Given the description of an element on the screen output the (x, y) to click on. 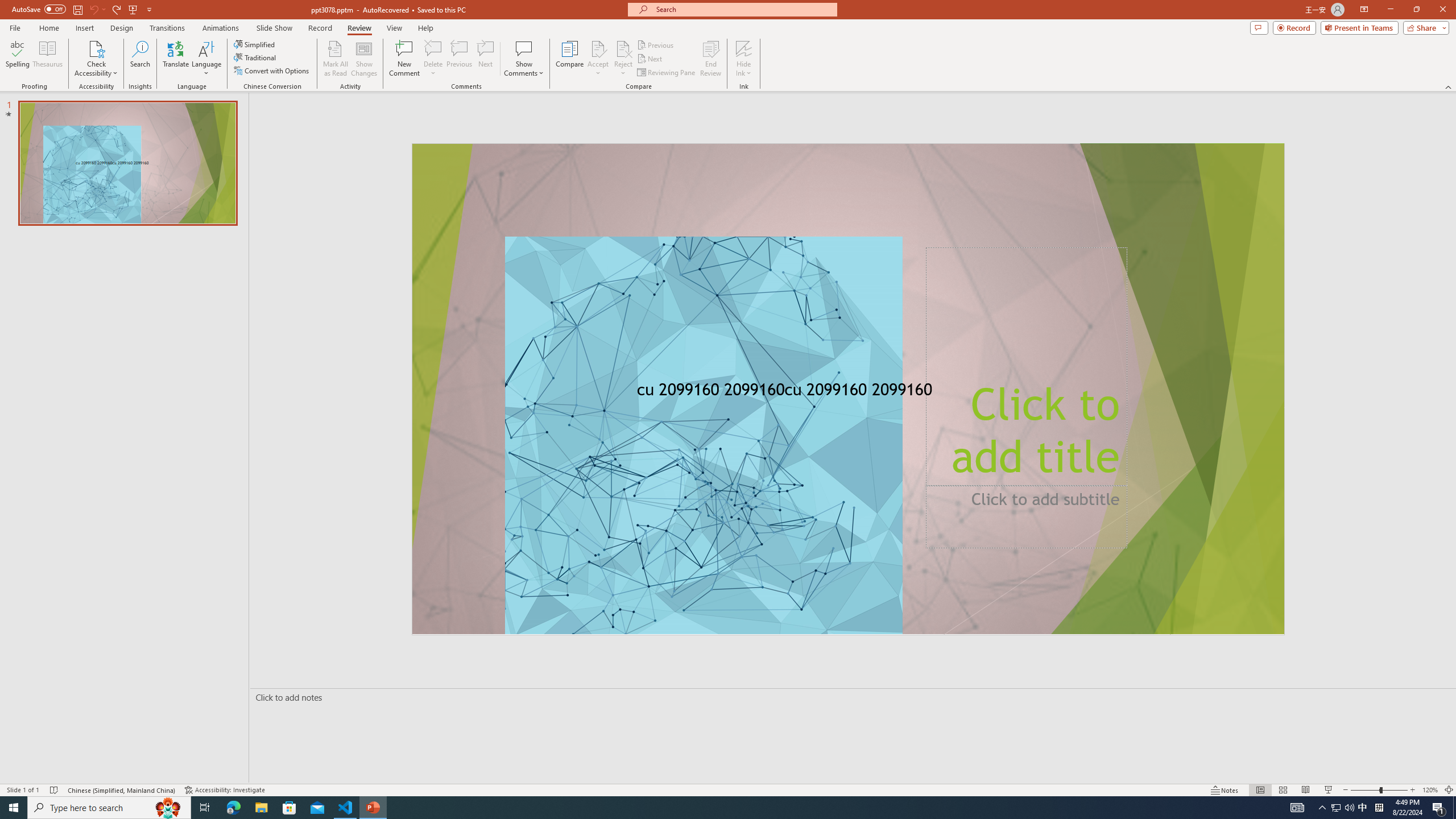
Show Changes (363, 58)
